Given the description of an element on the screen output the (x, y) to click on. 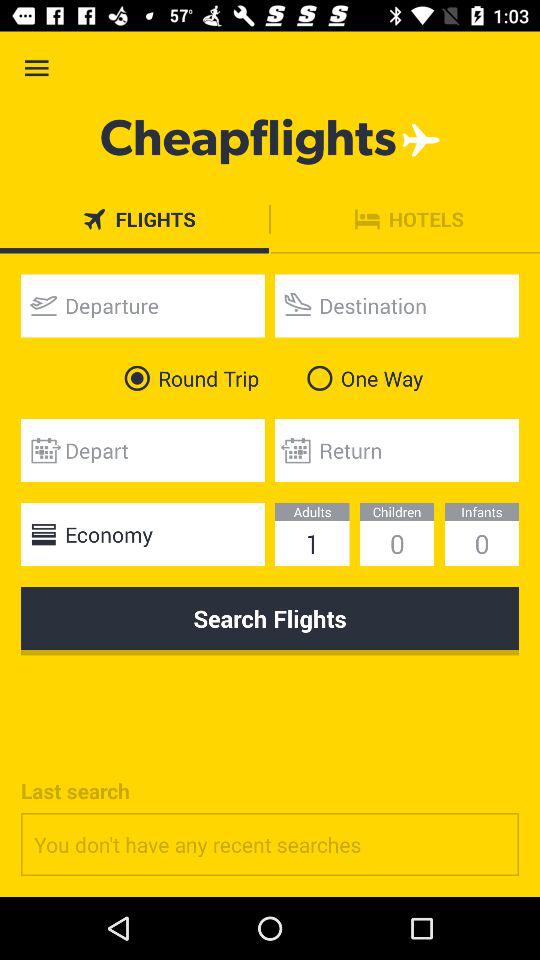
turn off the one way icon (360, 378)
